Given the description of an element on the screen output the (x, y) to click on. 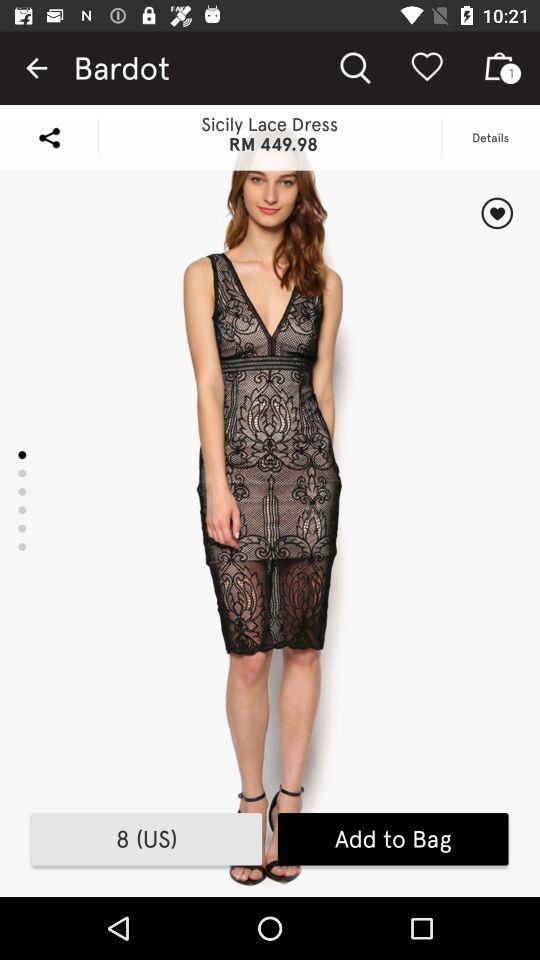
turn off icon next to the bardot (36, 68)
